Given the description of an element on the screen output the (x, y) to click on. 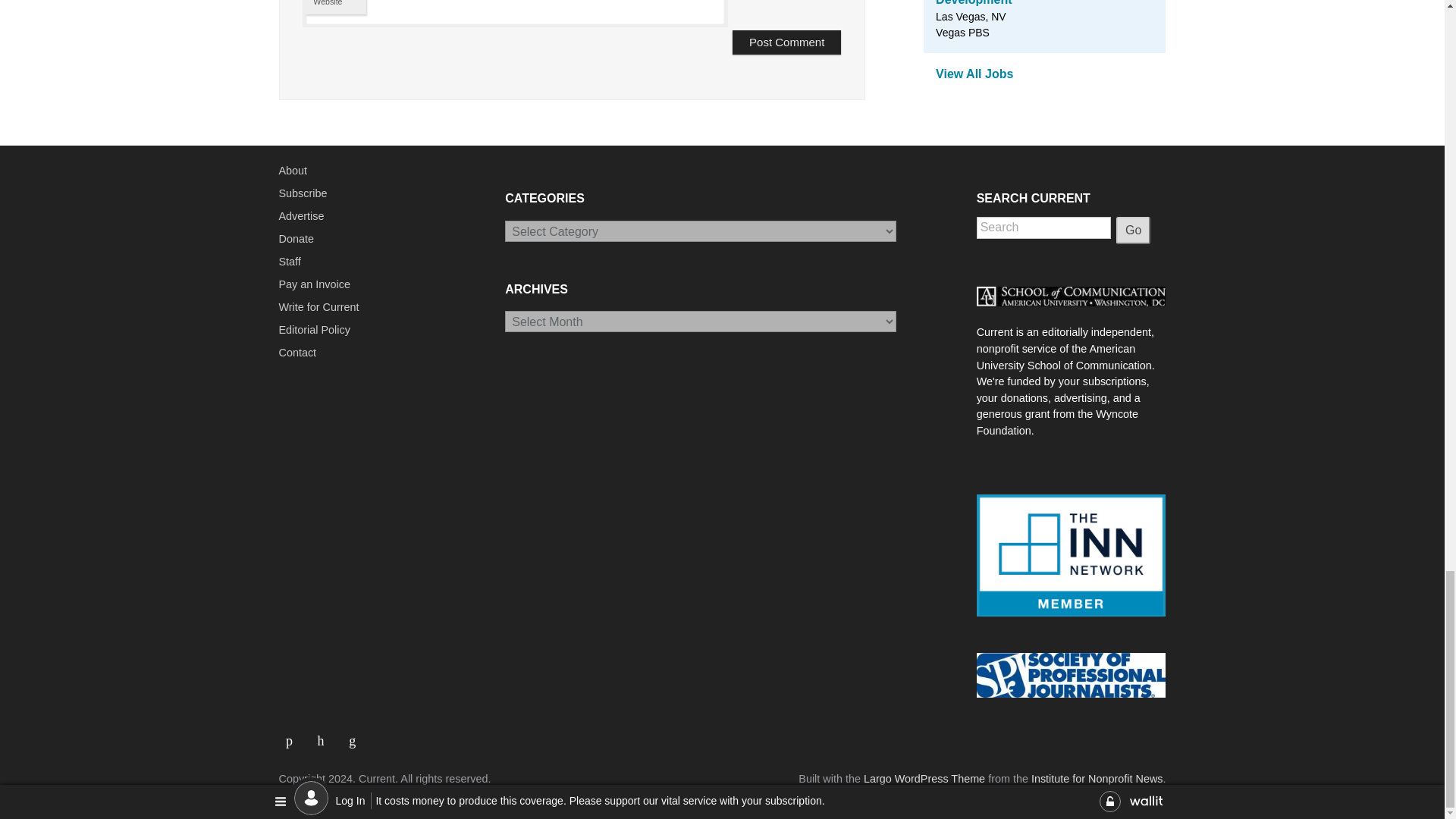
Link to Facebook Profile (295, 734)
Link to Twitter Page (326, 734)
Link to RSS Feed (354, 734)
Post Comment (786, 42)
